Given the description of an element on the screen output the (x, y) to click on. 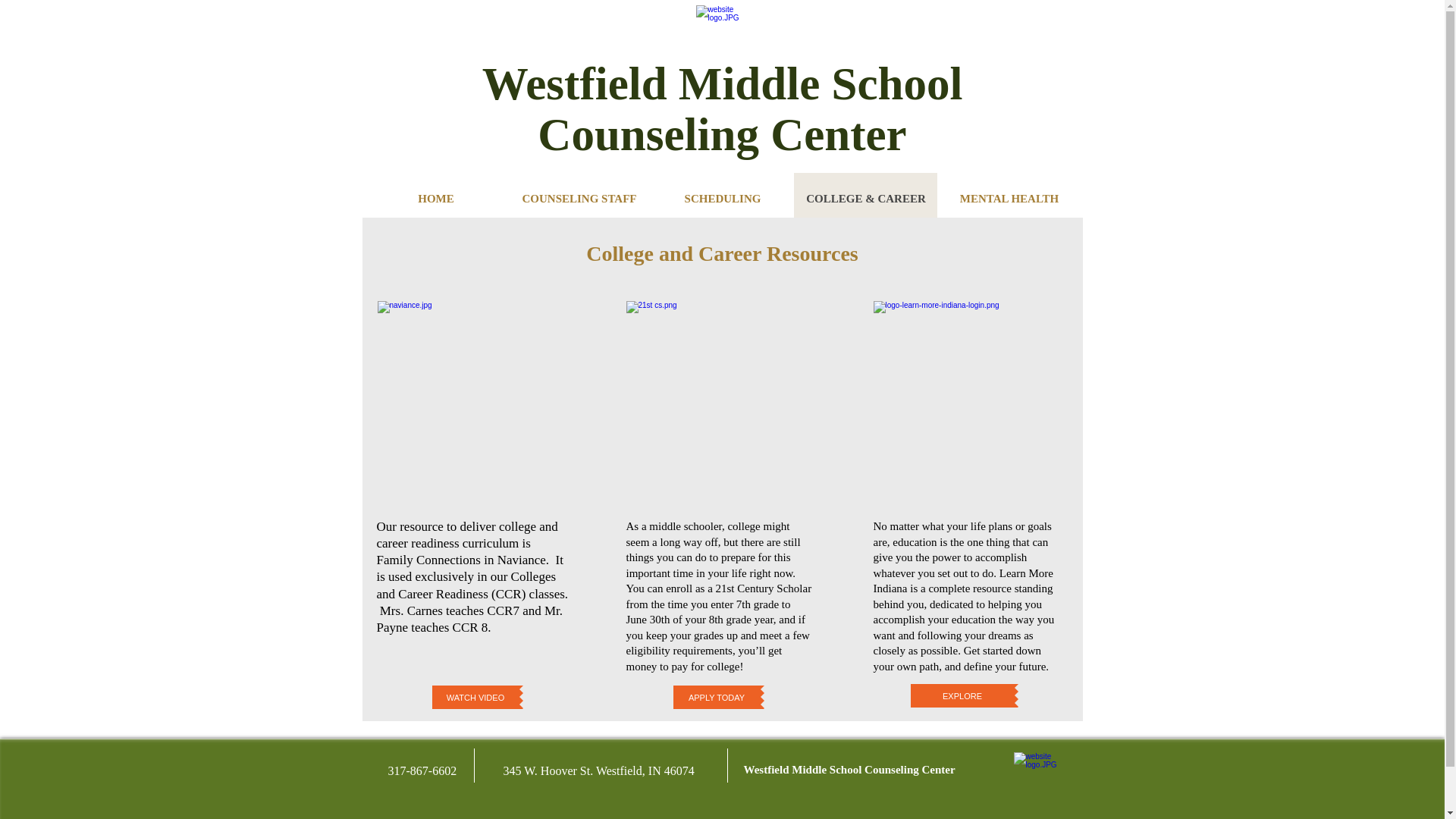
WATCH VIDEO (721, 108)
SCHEDULING (475, 697)
Westfield Middle School  (721, 198)
COUNSELING STAFF (803, 769)
Counseling Center (578, 198)
Webmaster Login (909, 769)
HOME (700, 815)
APPLY TODAY (435, 198)
EXPLORE (716, 697)
MENTAL HEALTH (961, 695)
